Given the description of an element on the screen output the (x, y) to click on. 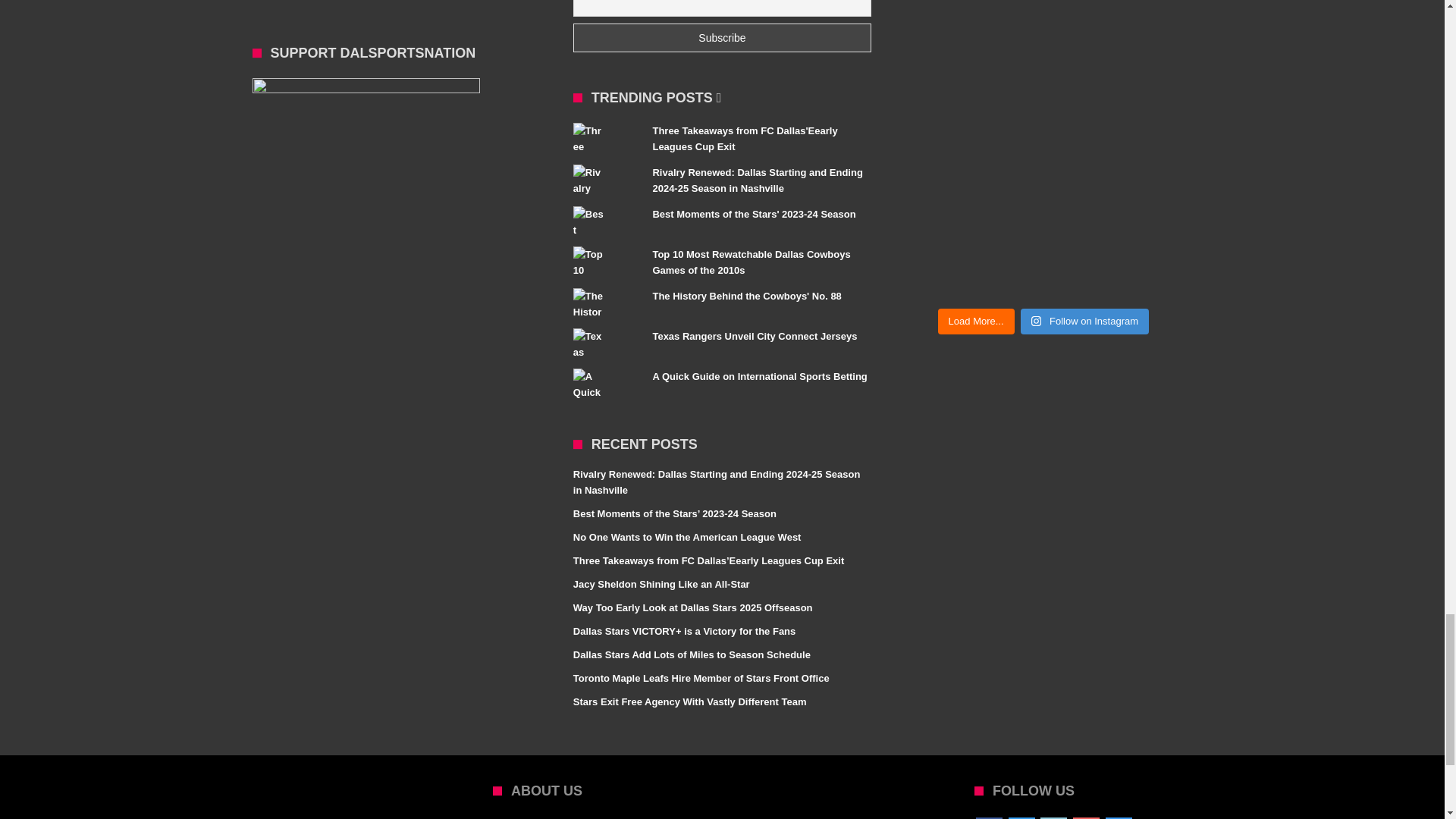
Subscribe (721, 37)
